Given the description of an element on the screen output the (x, y) to click on. 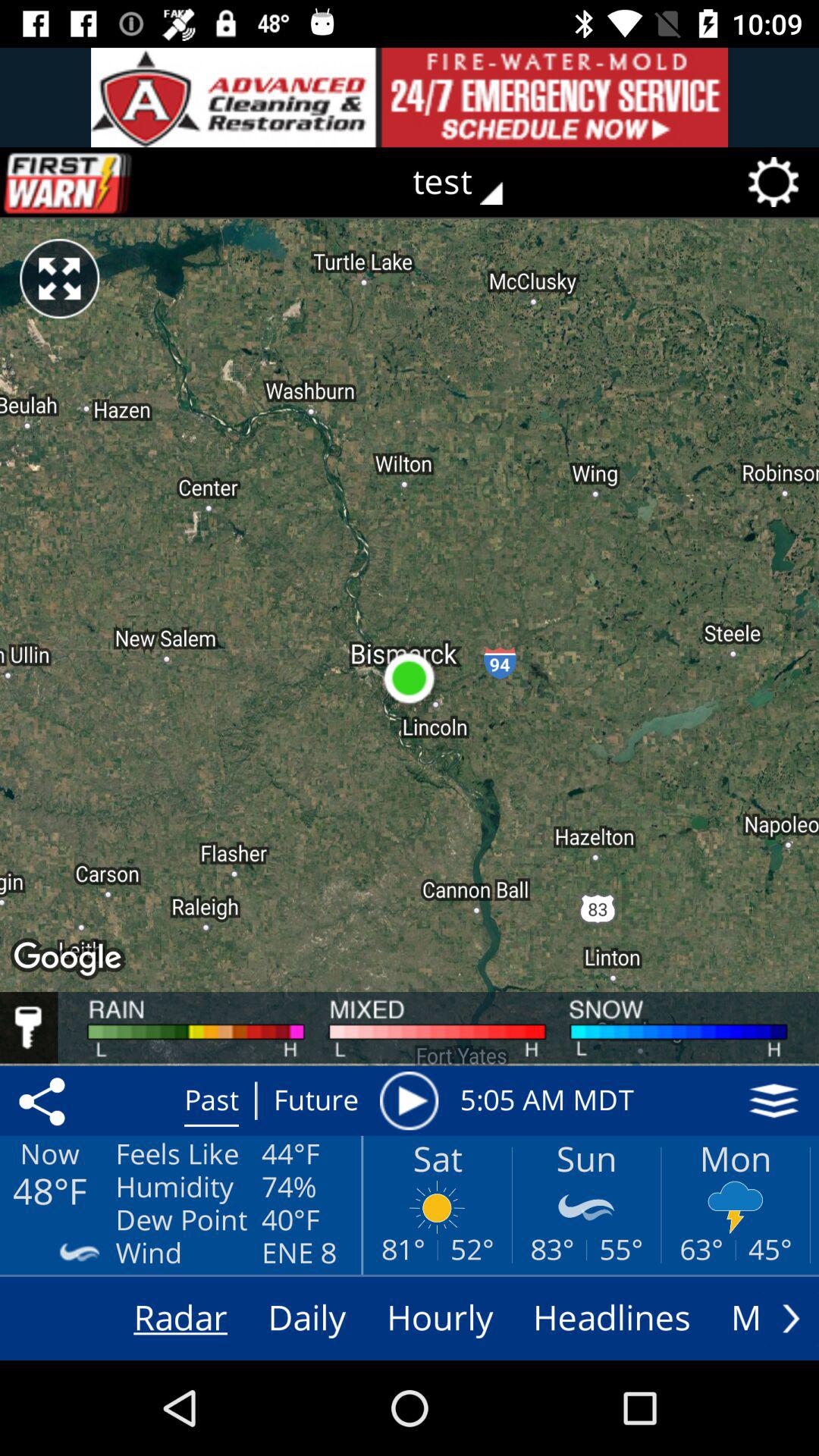
scroll right (791, 1318)
